Given the description of an element on the screen output the (x, y) to click on. 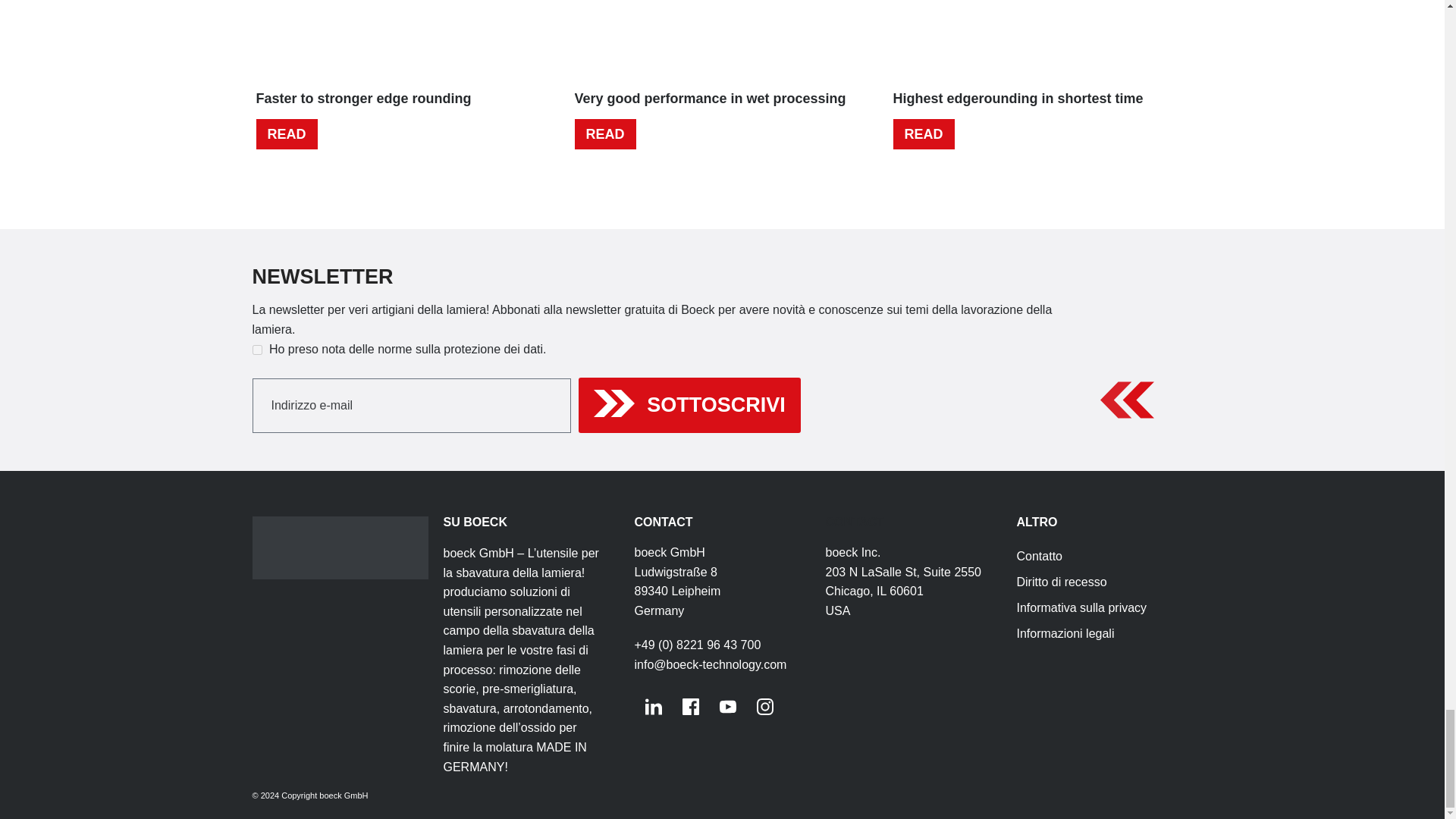
on (256, 349)
